Given the description of an element on the screen output the (x, y) to click on. 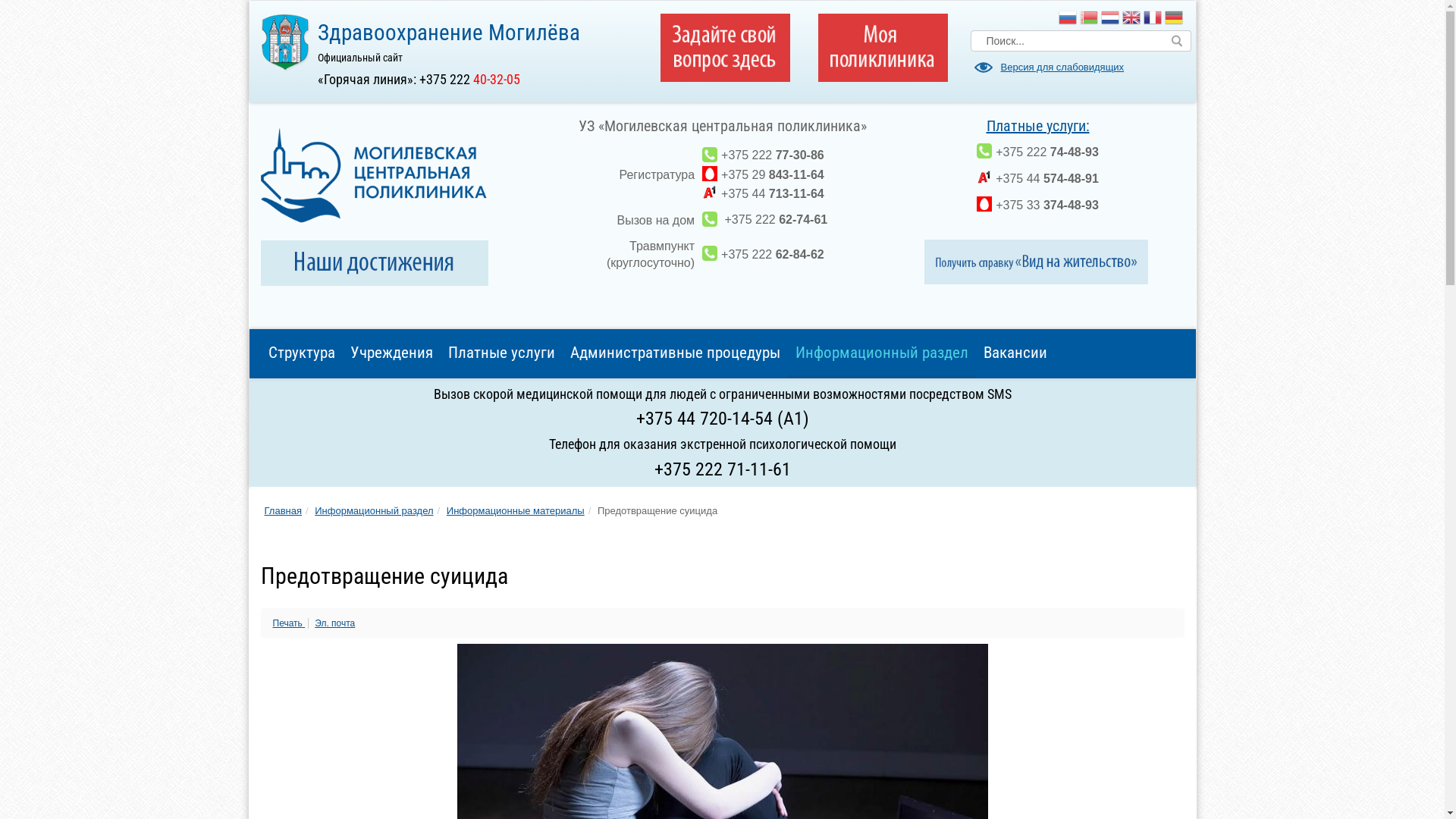
German Element type: hover (1173, 18)
English Element type: hover (1131, 18)
Russian Element type: hover (1067, 18)
French Element type: hover (1152, 18)
Belarusian Element type: hover (1088, 18)
Dutch Element type: hover (1109, 18)
